Given the description of an element on the screen output the (x, y) to click on. 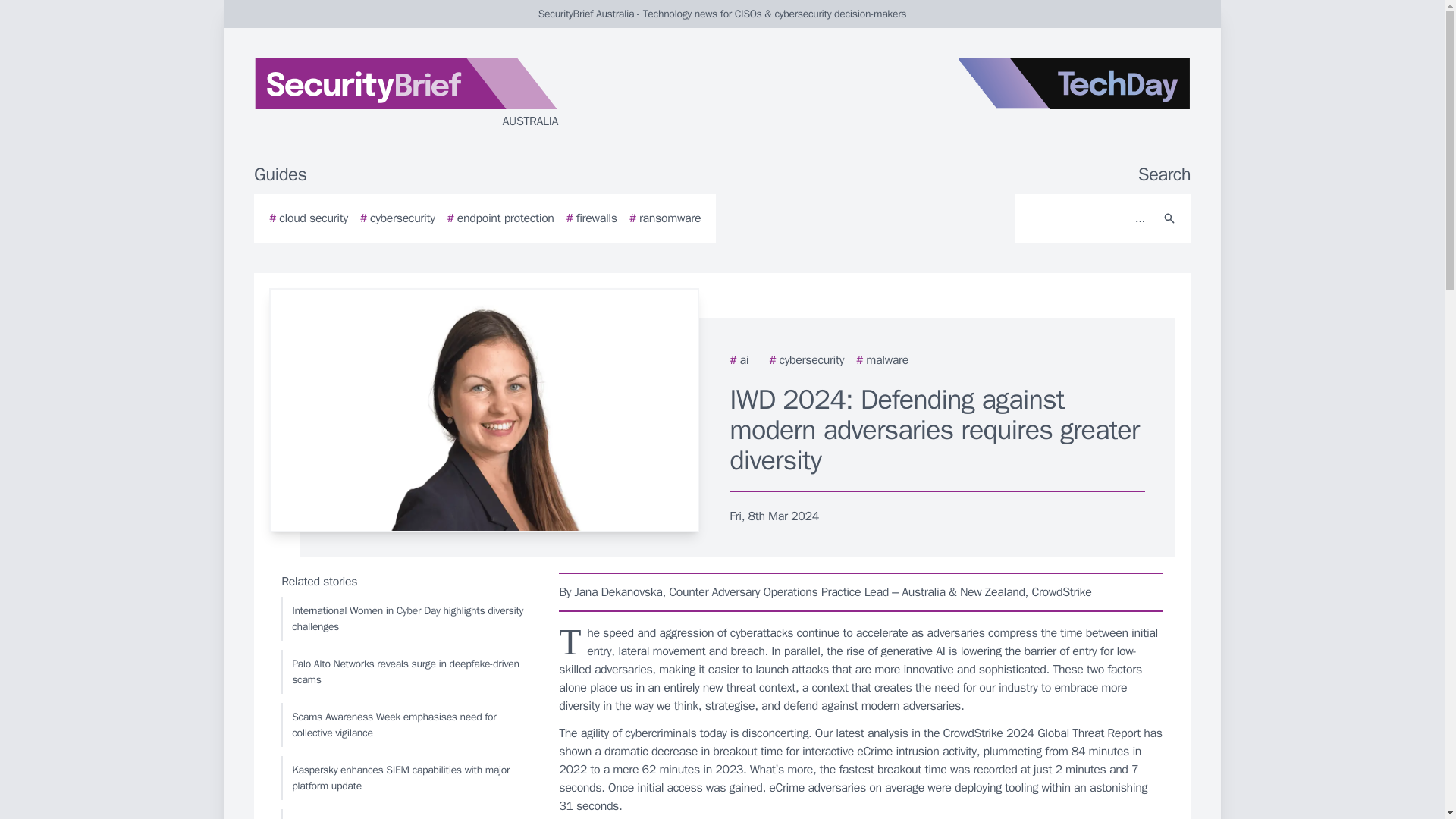
Palo Alto Networks reveals surge in deepfake-driven scams (406, 671)
AUSTRALIA (435, 94)
